Given the description of an element on the screen output the (x, y) to click on. 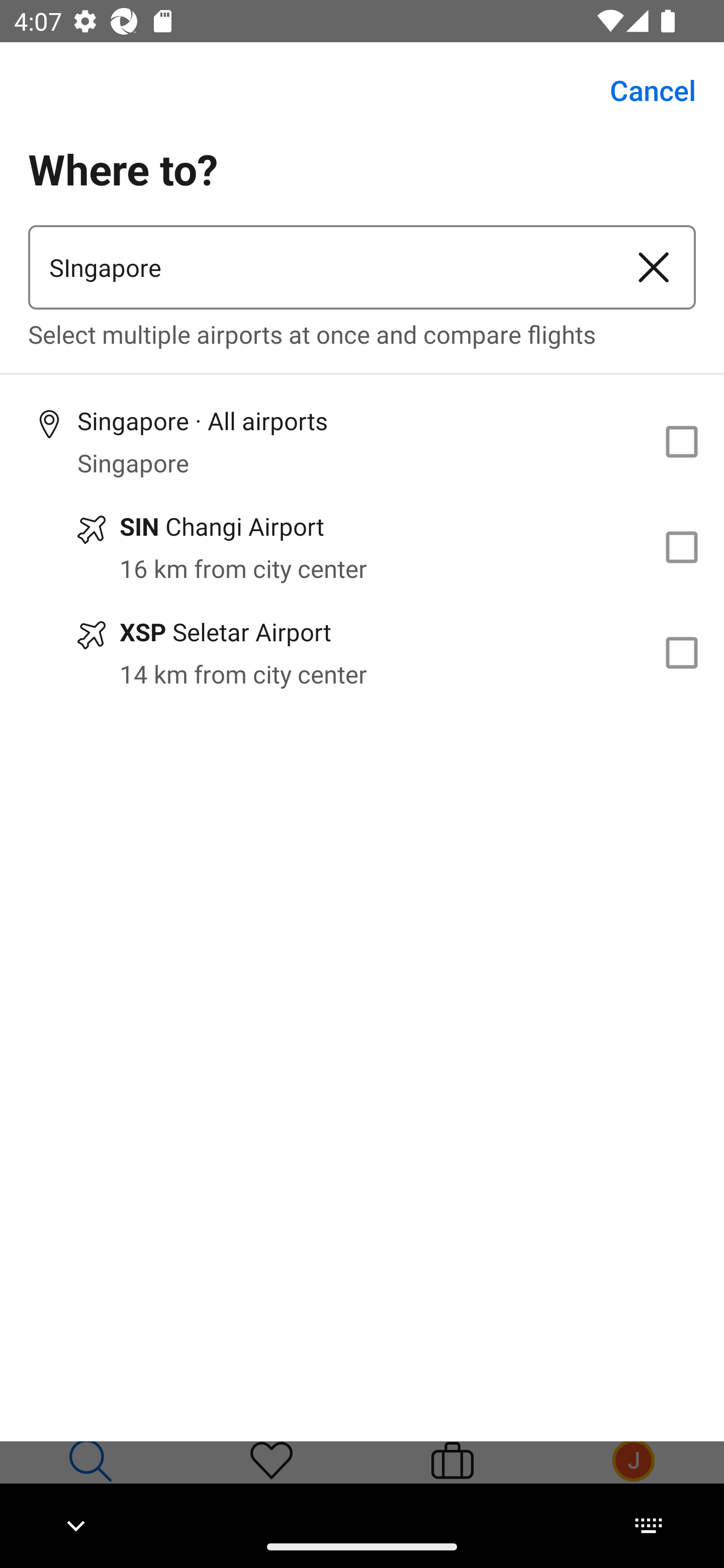
Cancel (641, 90)
SIngapore (319, 266)
Clear airport or city (653, 266)
Singapore · All airports Singapore (362, 440)
SIN Changi Airport 16 km from city center (362, 547)
XSP Seletar Airport 14 km from city center (362, 652)
